Given the description of an element on the screen output the (x, y) to click on. 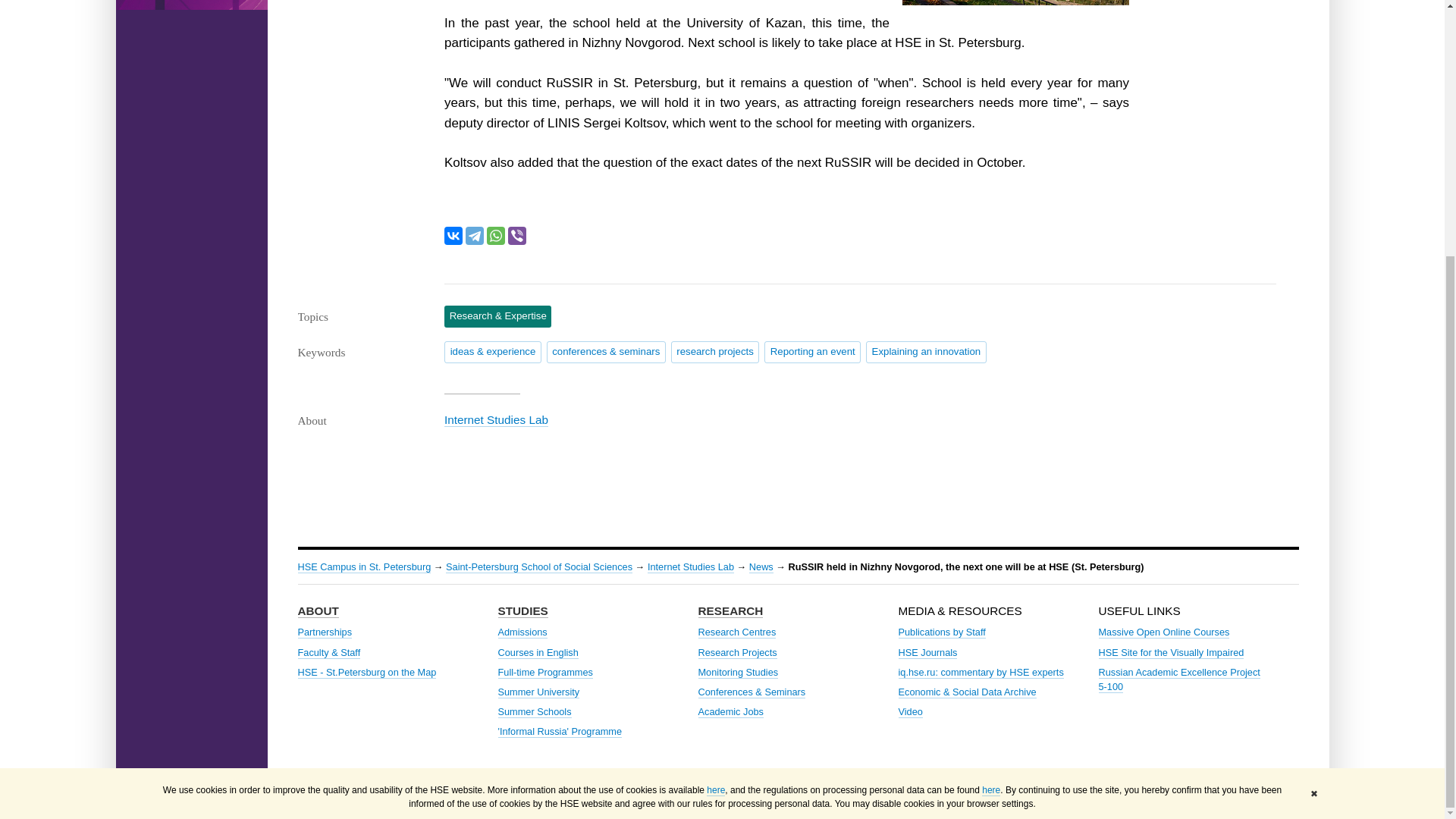
Telegram (474, 235)
Viber (516, 235)
VKontakte (453, 235)
here (715, 427)
here (990, 427)
WhatsApp (495, 235)
